Given the description of an element on the screen output the (x, y) to click on. 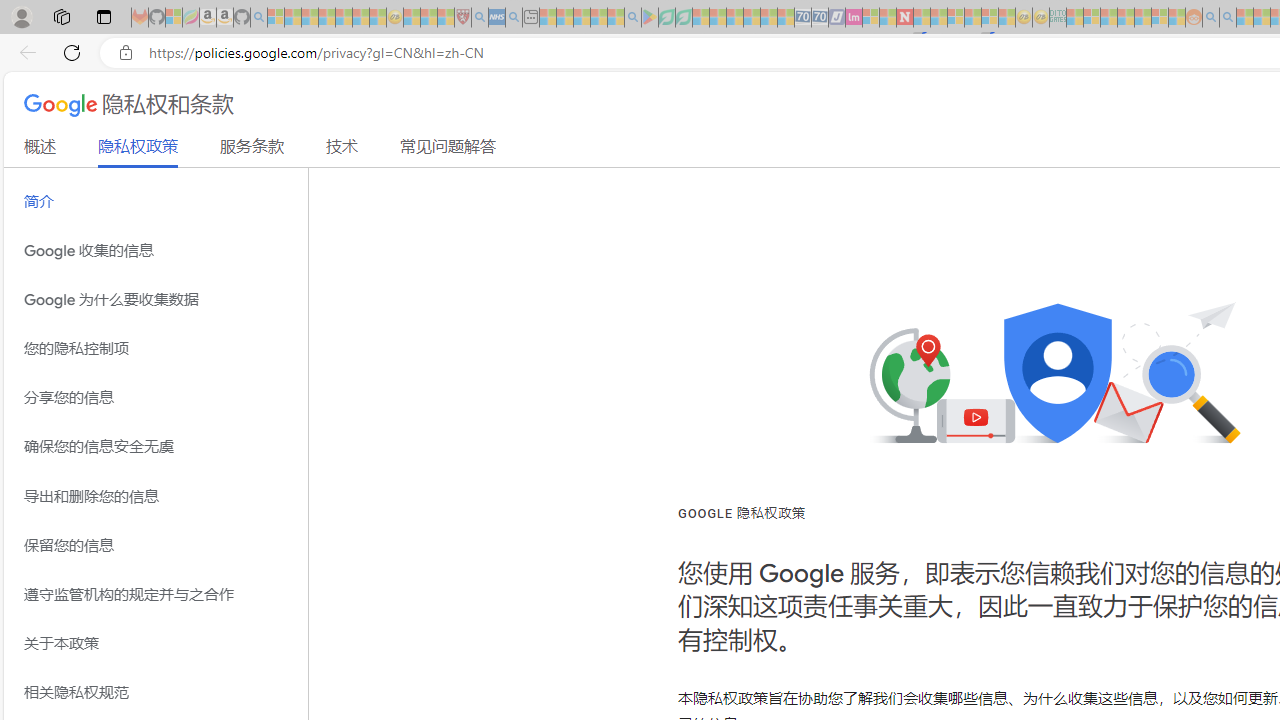
Jobs - lastminute.com Investor Portal - Sleeping (853, 17)
google - Search - Sleeping (632, 17)
Expert Portfolios - Sleeping (1125, 17)
Latest Politics News & Archive | Newsweek.com - Sleeping (904, 17)
Local - MSN - Sleeping (445, 17)
